Given the description of an element on the screen output the (x, y) to click on. 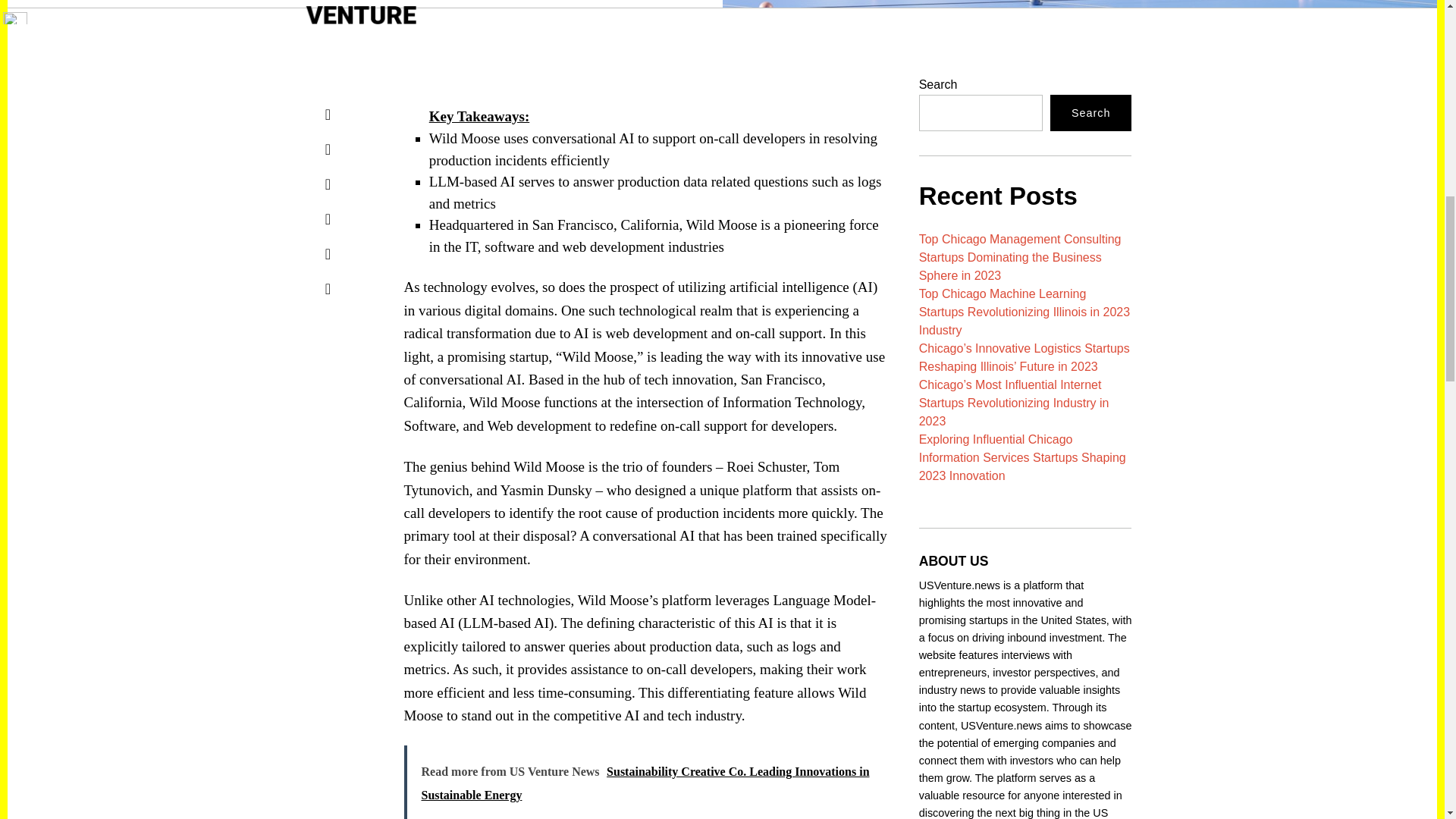
Twitter (327, 183)
Whatsapp (327, 254)
Pinterest (327, 218)
Email (327, 288)
Facebook (327, 114)
Search (1090, 113)
Messenger (327, 149)
